Given the description of an element on the screen output the (x, y) to click on. 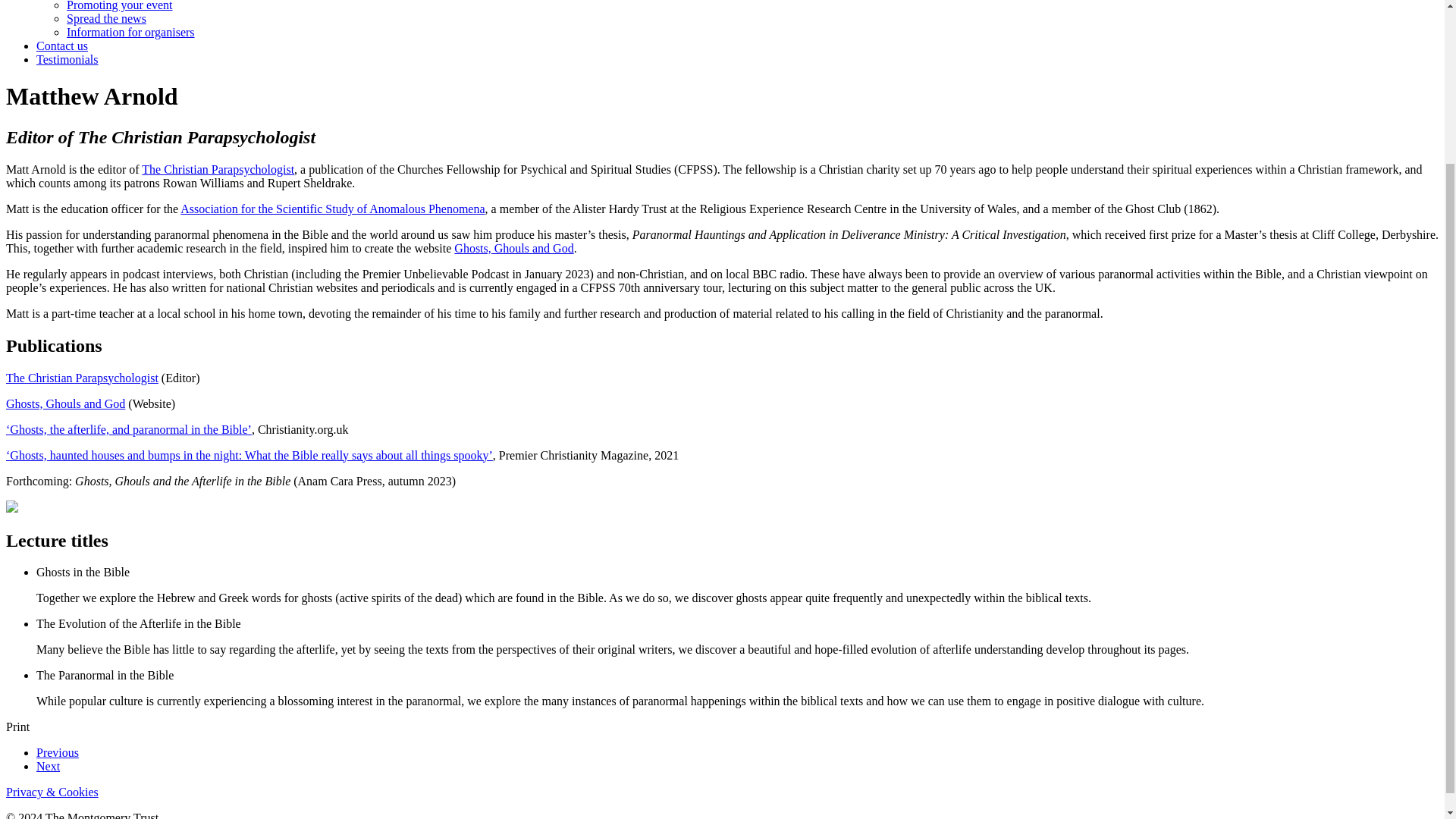
The Christian Parapsychologist (81, 377)
Ghosts, Ghouls and God (65, 403)
Contact us (61, 45)
Previous (57, 752)
Next (47, 766)
Association for the Scientific Study of Anomalous Phenomena (332, 208)
Print (17, 726)
Ghosts, Ghouls and God (513, 247)
The Christian Parapsychologist (217, 169)
Spread the news (106, 18)
